Given the description of an element on the screen output the (x, y) to click on. 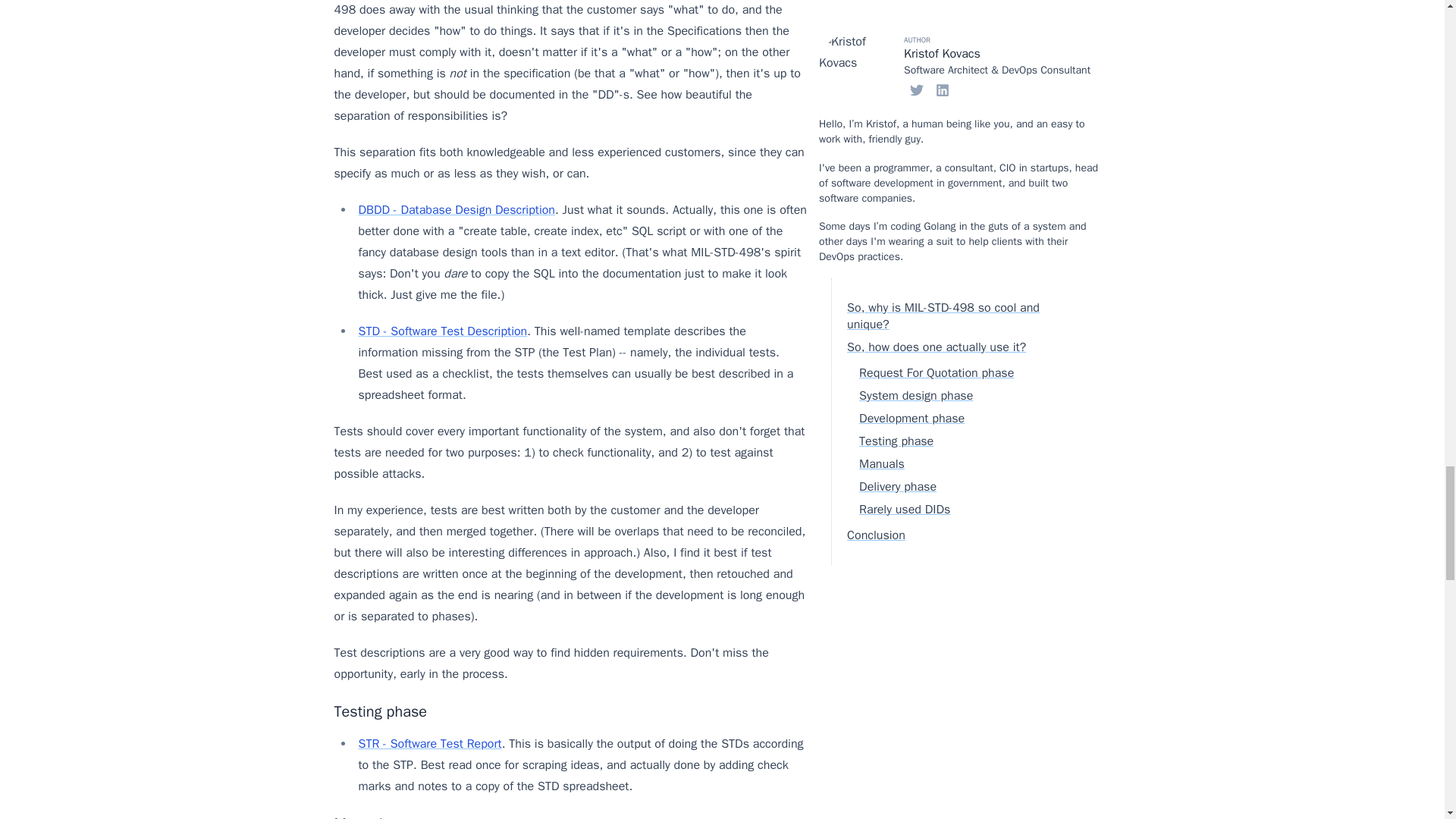
STR - Software Test Report (429, 743)
STD - Software Test Description (442, 331)
DBDD - Database Design Description (456, 209)
